Given the description of an element on the screen output the (x, y) to click on. 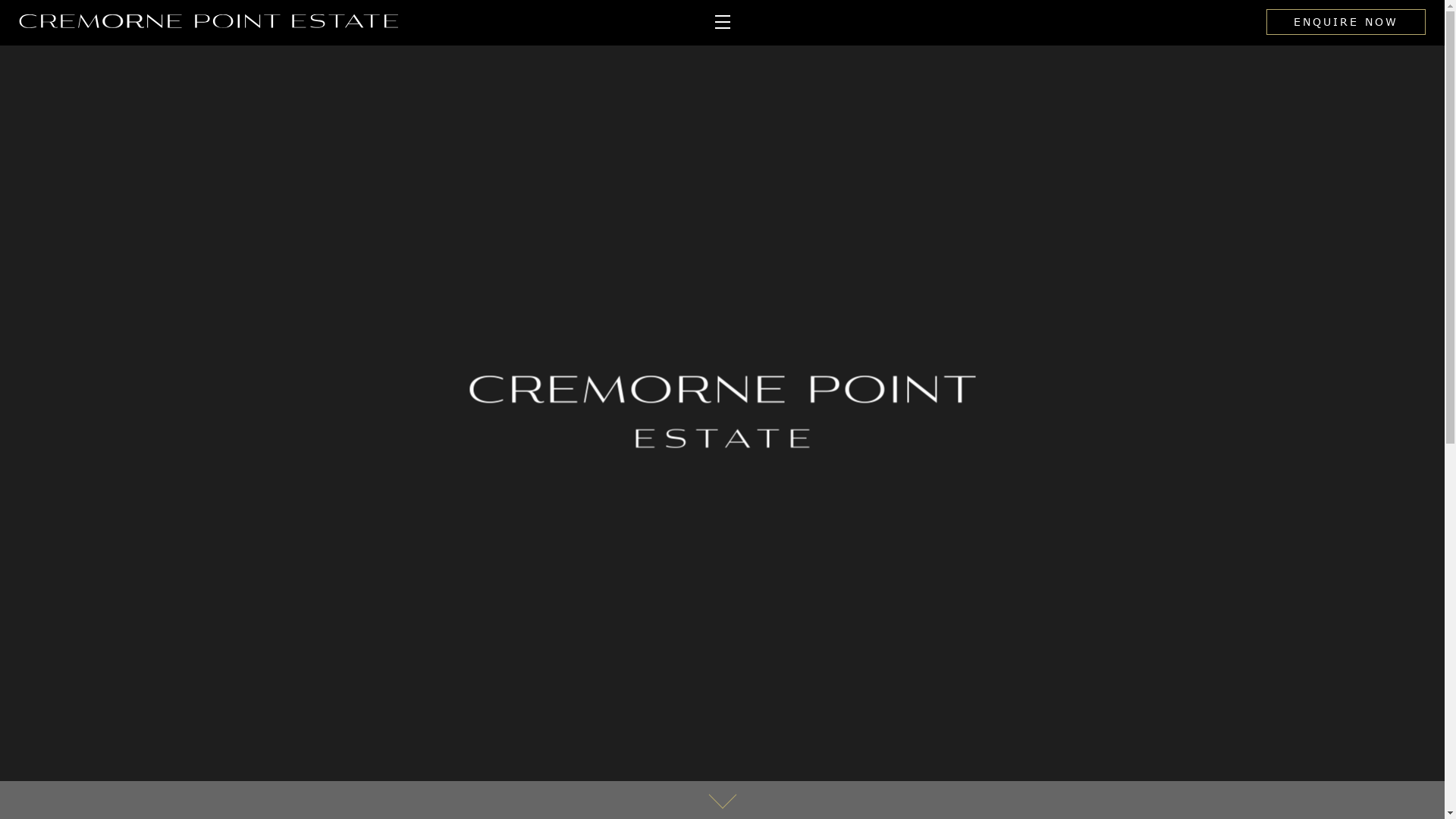
ENQUIRE NOW Element type: text (1345, 21)
